Given the description of an element on the screen output the (x, y) to click on. 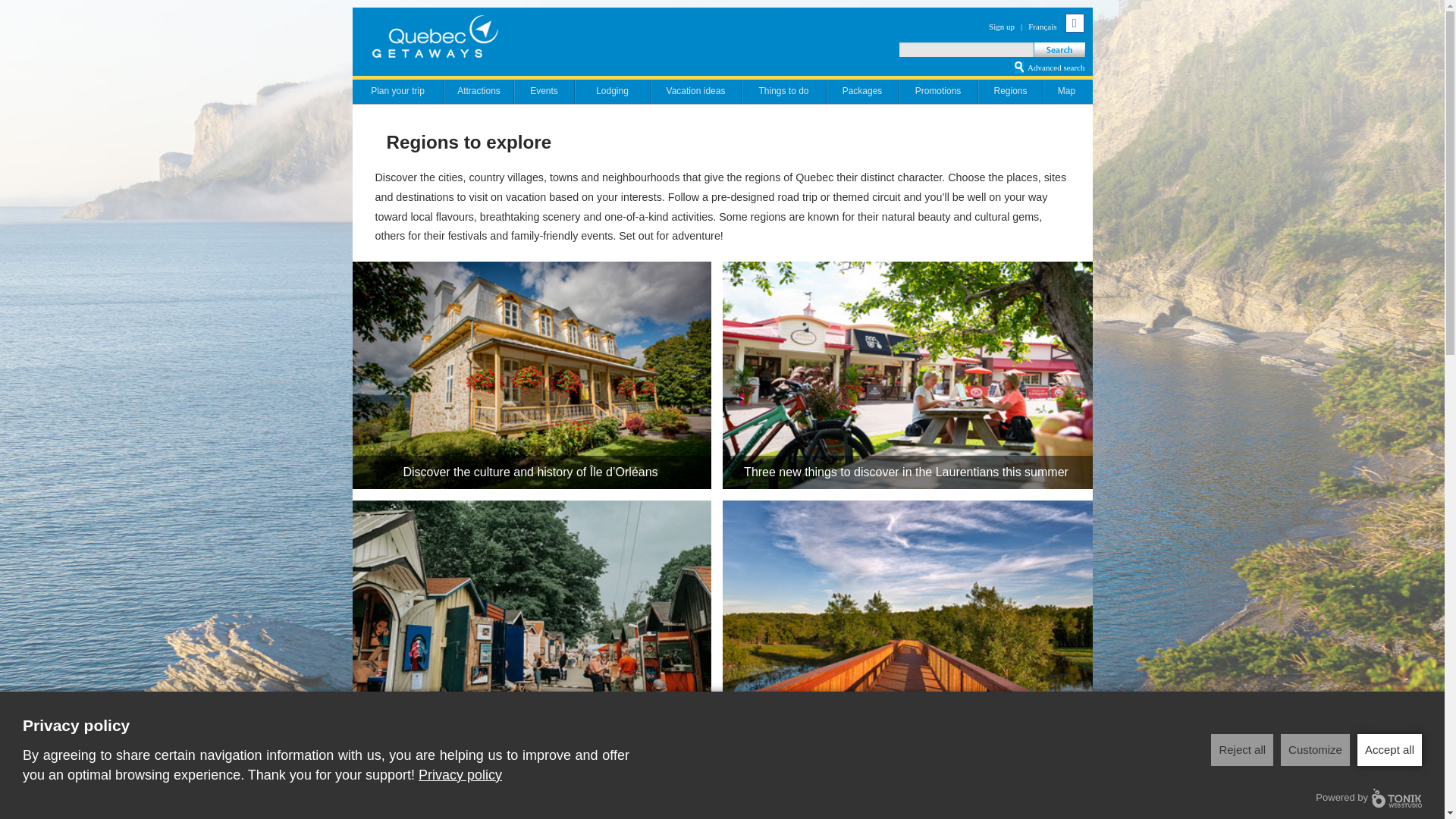
Vacation ideas (694, 89)
Lodging (612, 89)
Customize (1315, 749)
Accept all (1389, 749)
Sign up (1001, 26)
Plan your trip (397, 89)
Powered by (1369, 797)
Attractions (478, 89)
Things to do (783, 89)
Reject all (1241, 749)
Events (543, 89)
Advanced search (1055, 66)
Privacy policy (460, 774)
